Given the description of an element on the screen output the (x, y) to click on. 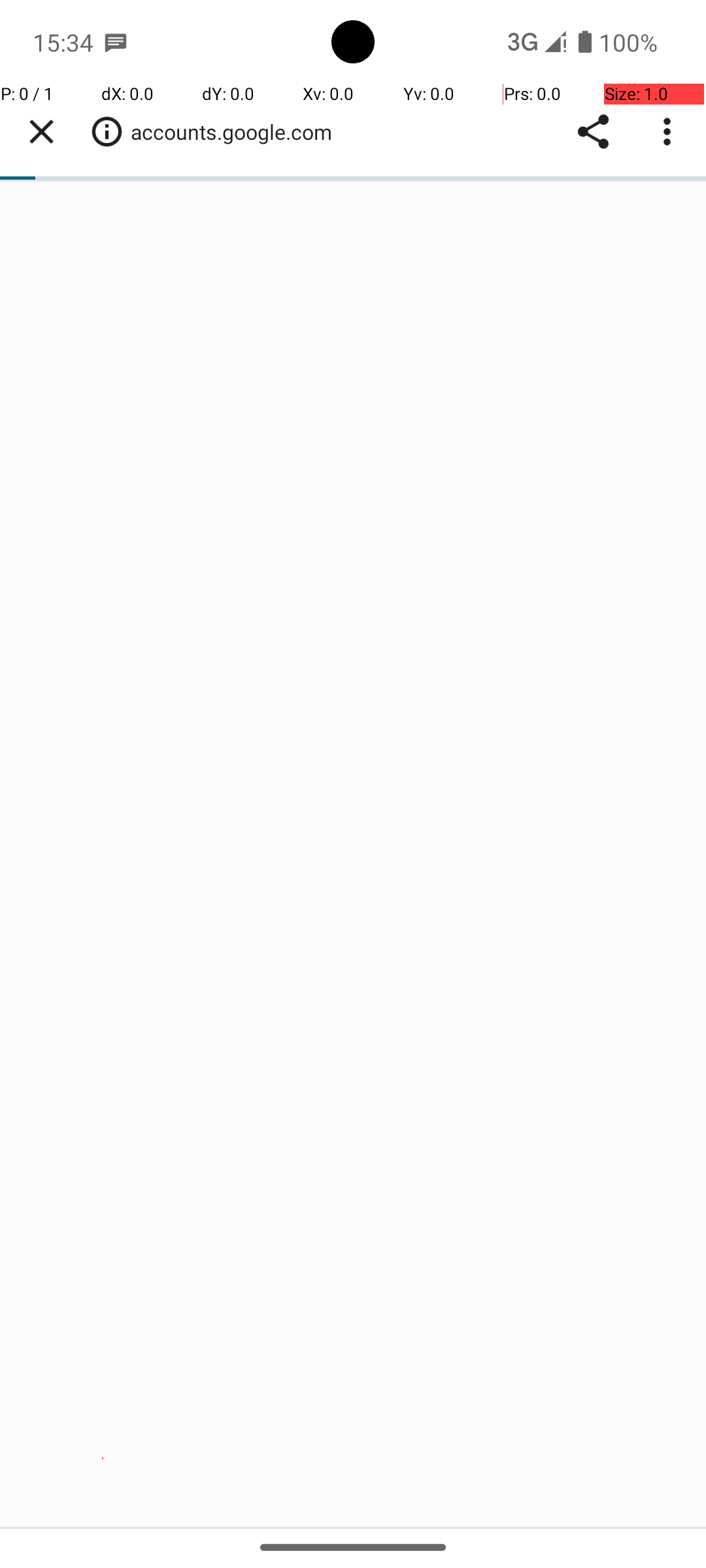
accounts.google.com Element type: android.widget.TextView (237, 131)
